Given the description of an element on the screen output the (x, y) to click on. 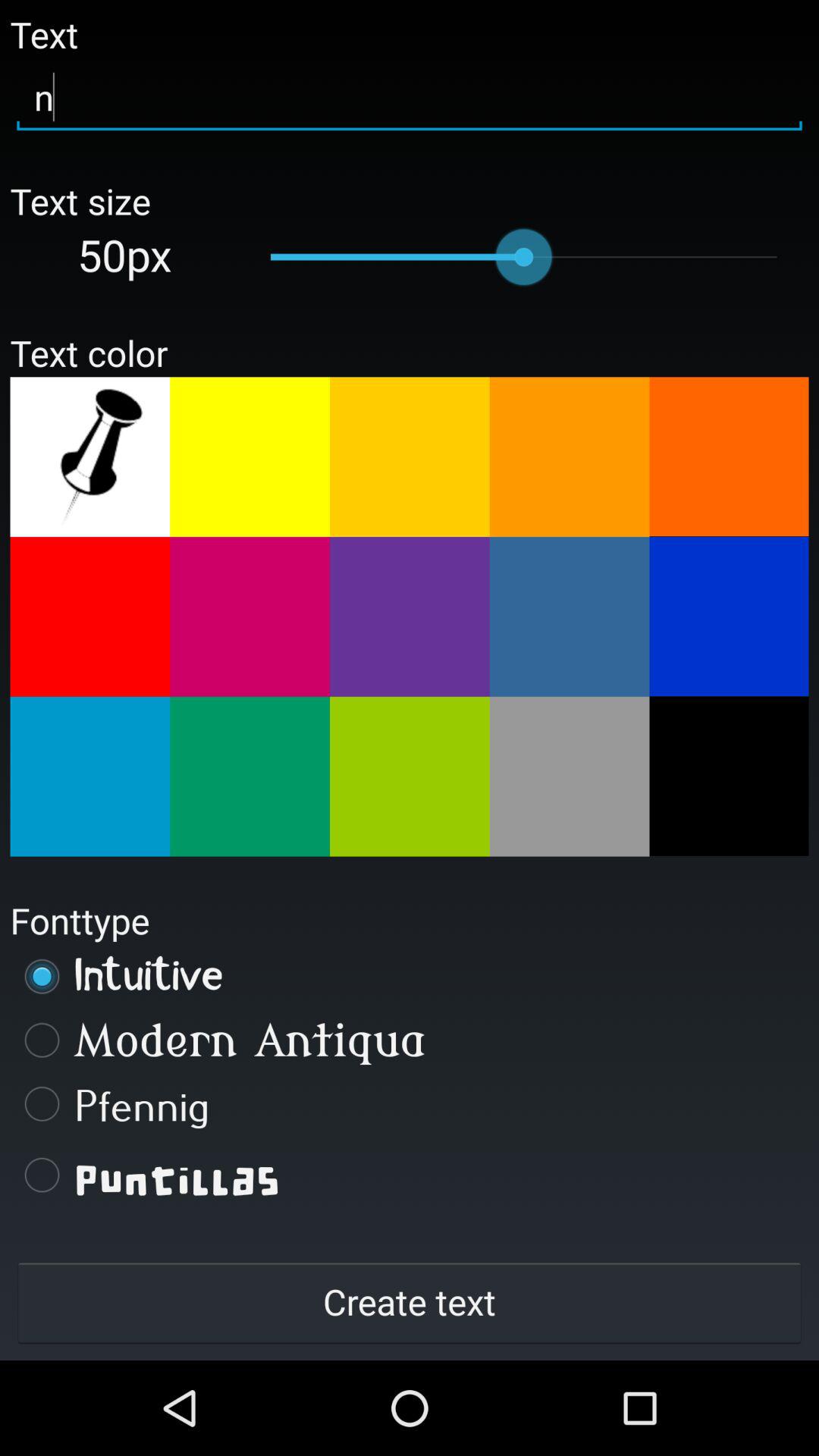
text colors option (249, 456)
